Given the description of an element on the screen output the (x, y) to click on. 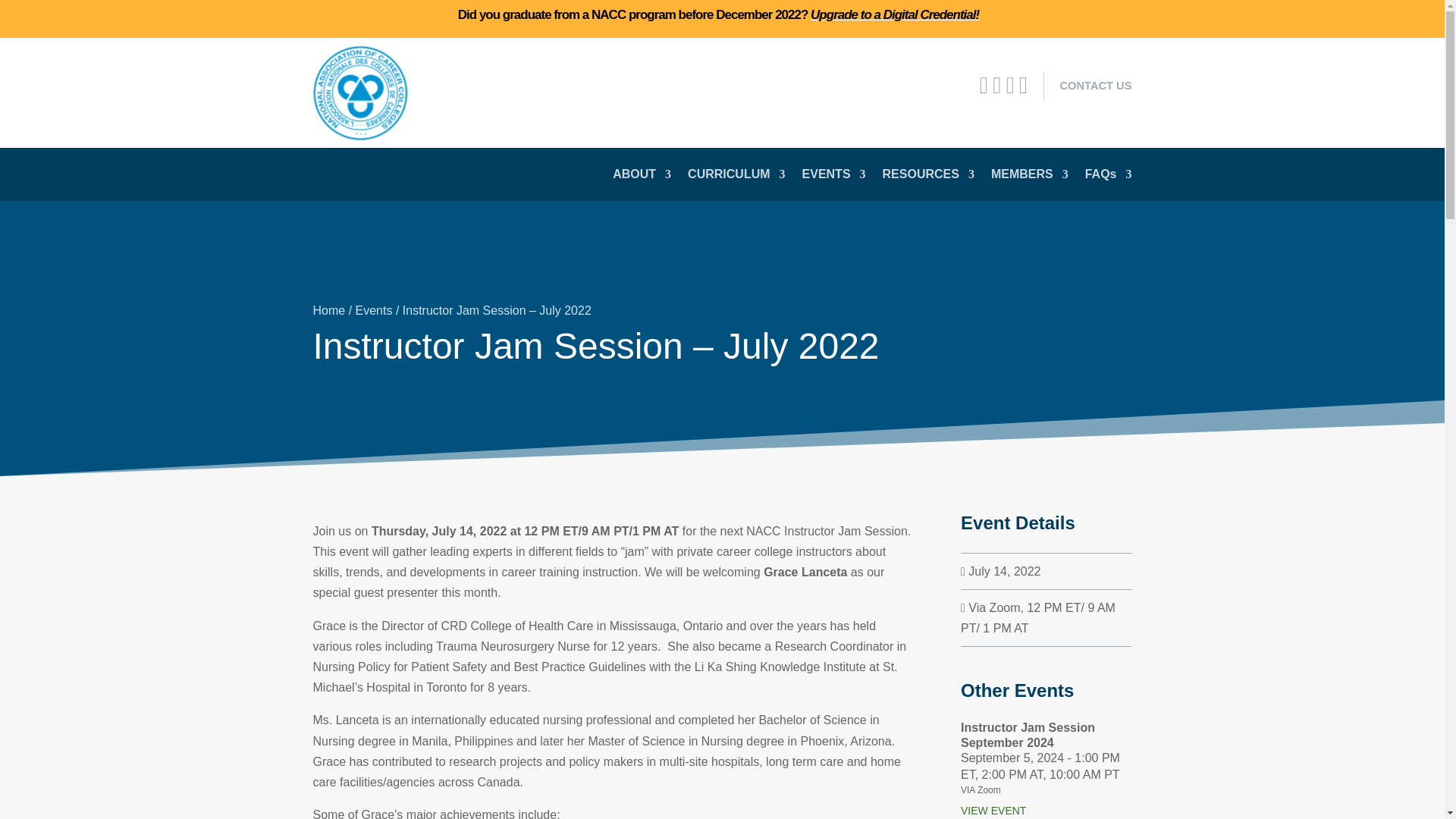
Upgrade to a Digital Credential! (894, 14)
RESOURCES (928, 176)
CURRICULUM (735, 176)
EVENTS (834, 176)
CONTACT US (1095, 85)
ABOUT (641, 176)
NACC-logo-100x100 (360, 92)
FAQs (1108, 176)
MEMBERS (1029, 176)
